Given the description of an element on the screen output the (x, y) to click on. 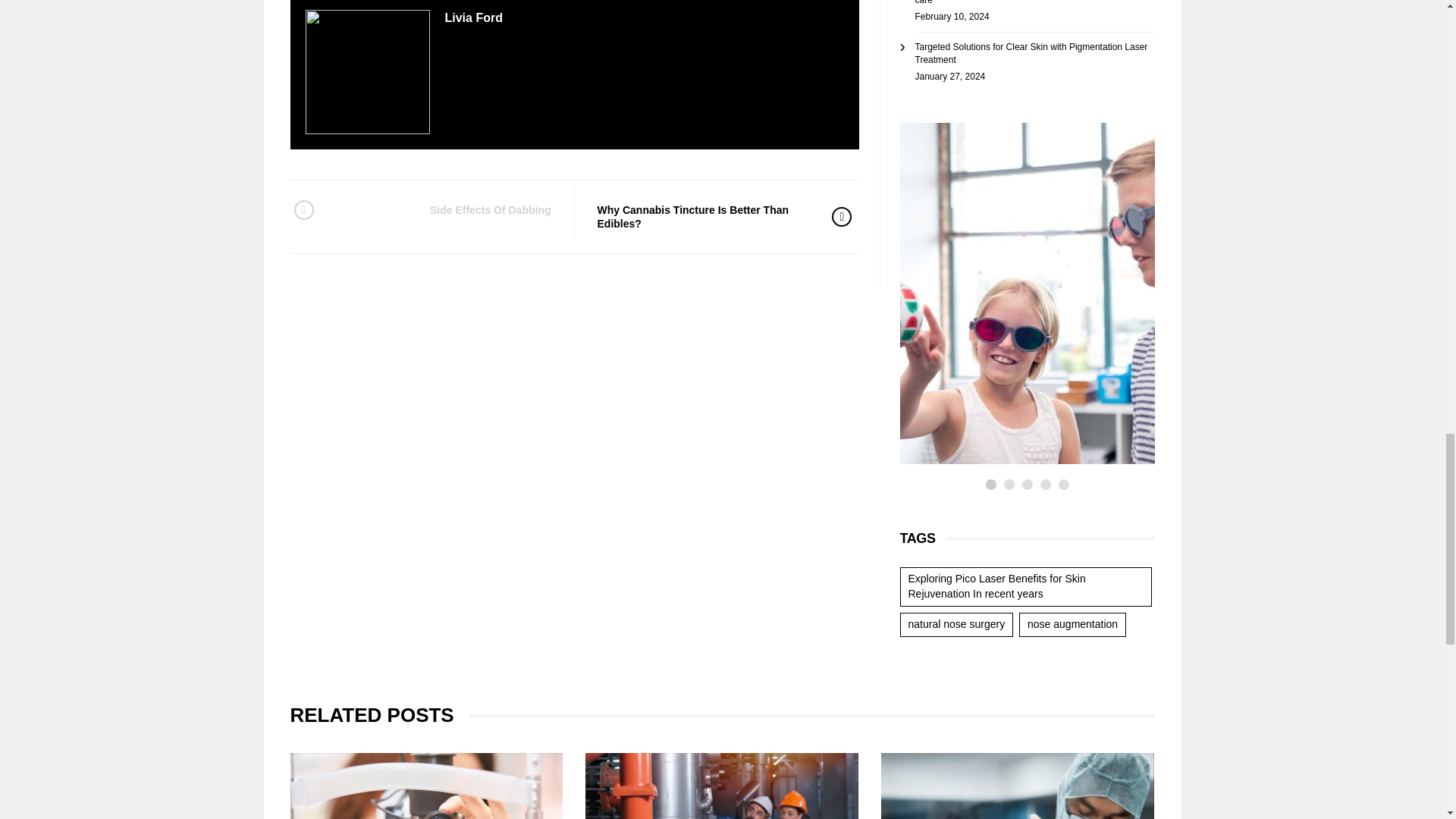
Side Effects Of Dabbing (442, 209)
Why Cannabis Tincture Is Better Than Edibles? (702, 216)
Livia Ford (473, 17)
